Given the description of an element on the screen output the (x, y) to click on. 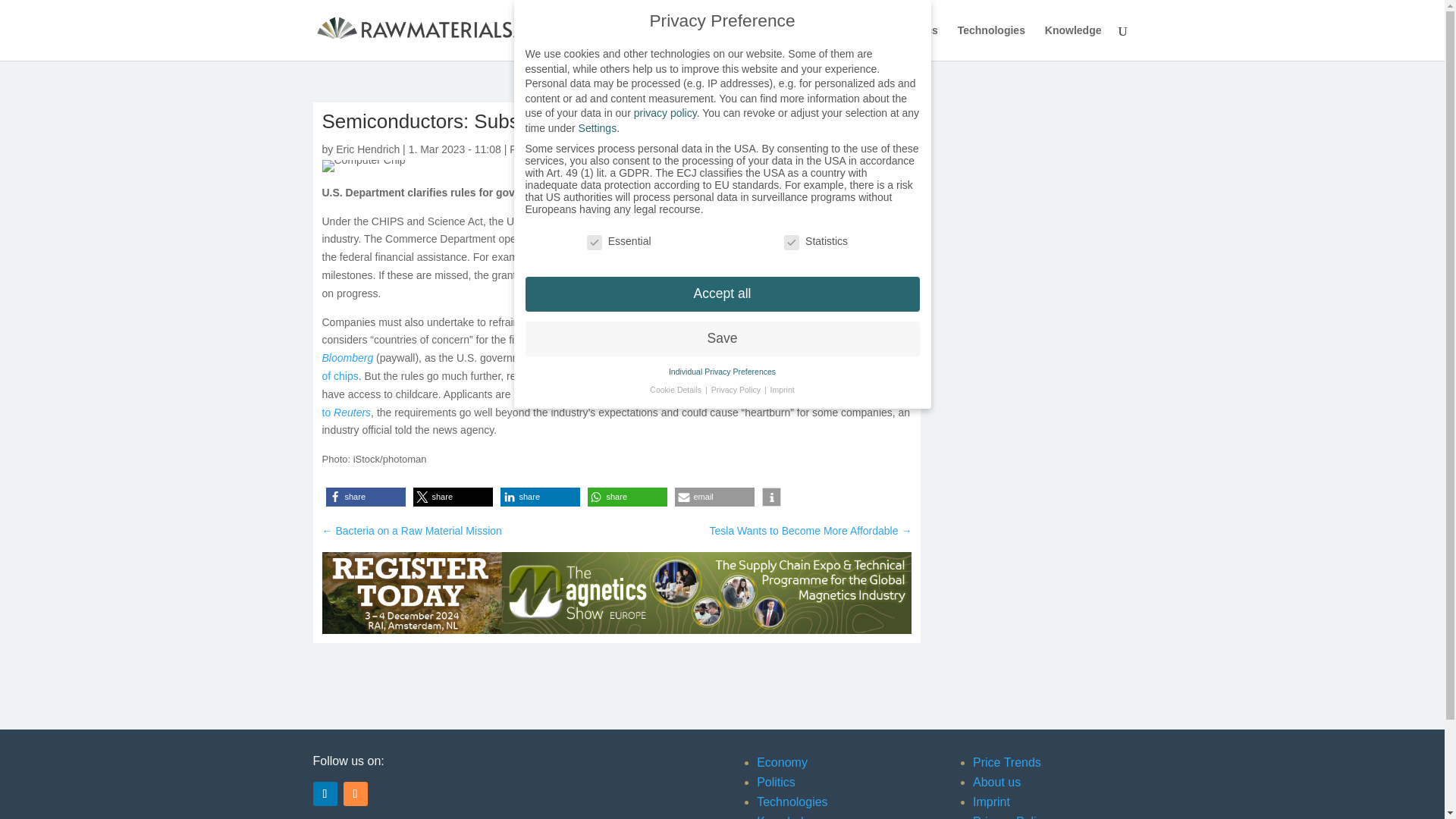
Accept all (721, 294)
Computer Chip (362, 165)
Politics (775, 781)
share  (626, 496)
Follow on RSS (354, 793)
Economy (856, 42)
Knowledge (786, 816)
Share on Whatsapp (626, 496)
Share on X (452, 496)
privacy policy (665, 112)
Posts by Eric Hendrich (367, 149)
According to Reuters (613, 403)
Technologies (792, 801)
Privacy Policy (1010, 816)
writes Bloomberg (611, 348)
